Given the description of an element on the screen output the (x, y) to click on. 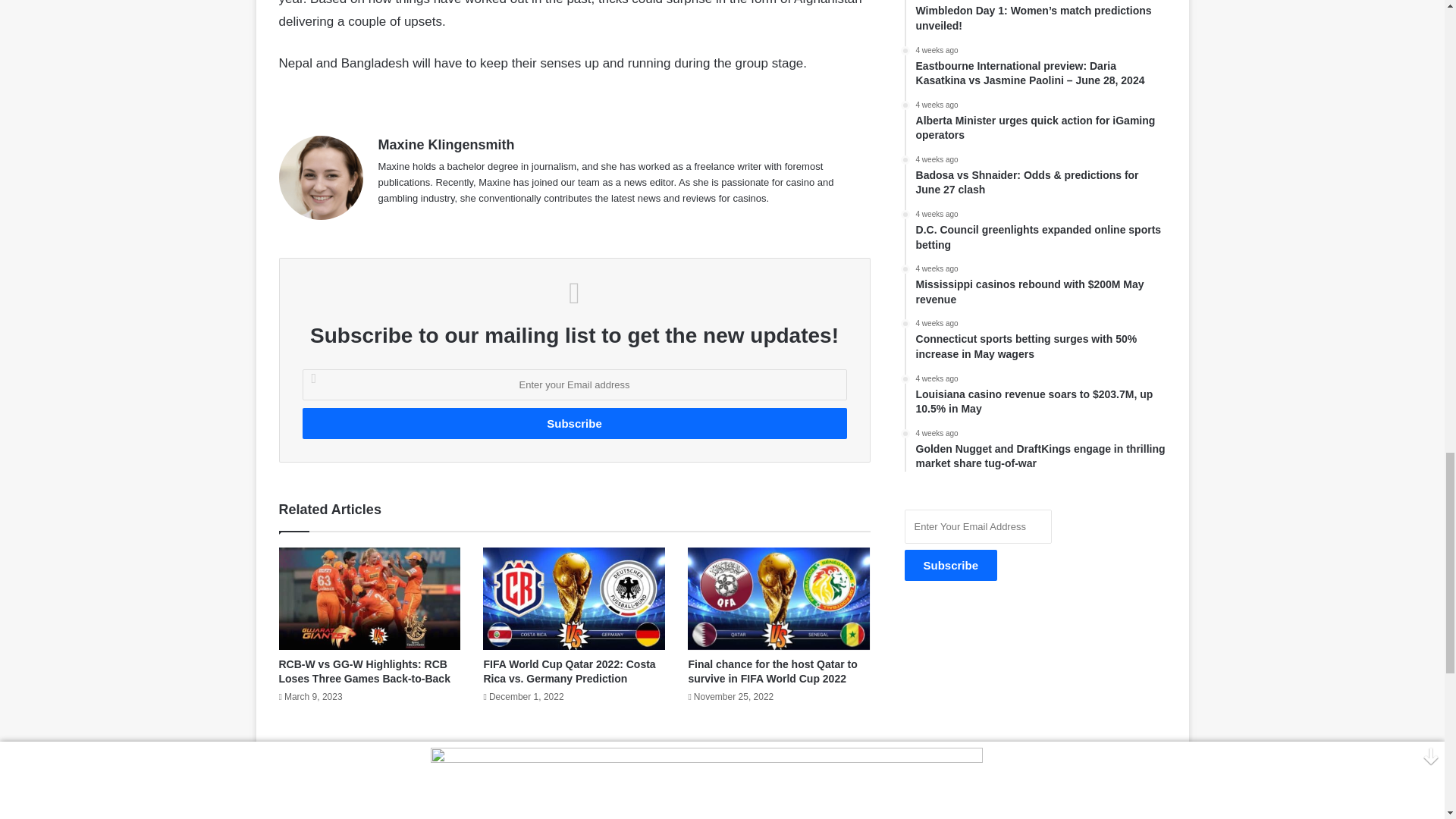
Subscribe (573, 422)
Subscribe (950, 564)
